Given the description of an element on the screen output the (x, y) to click on. 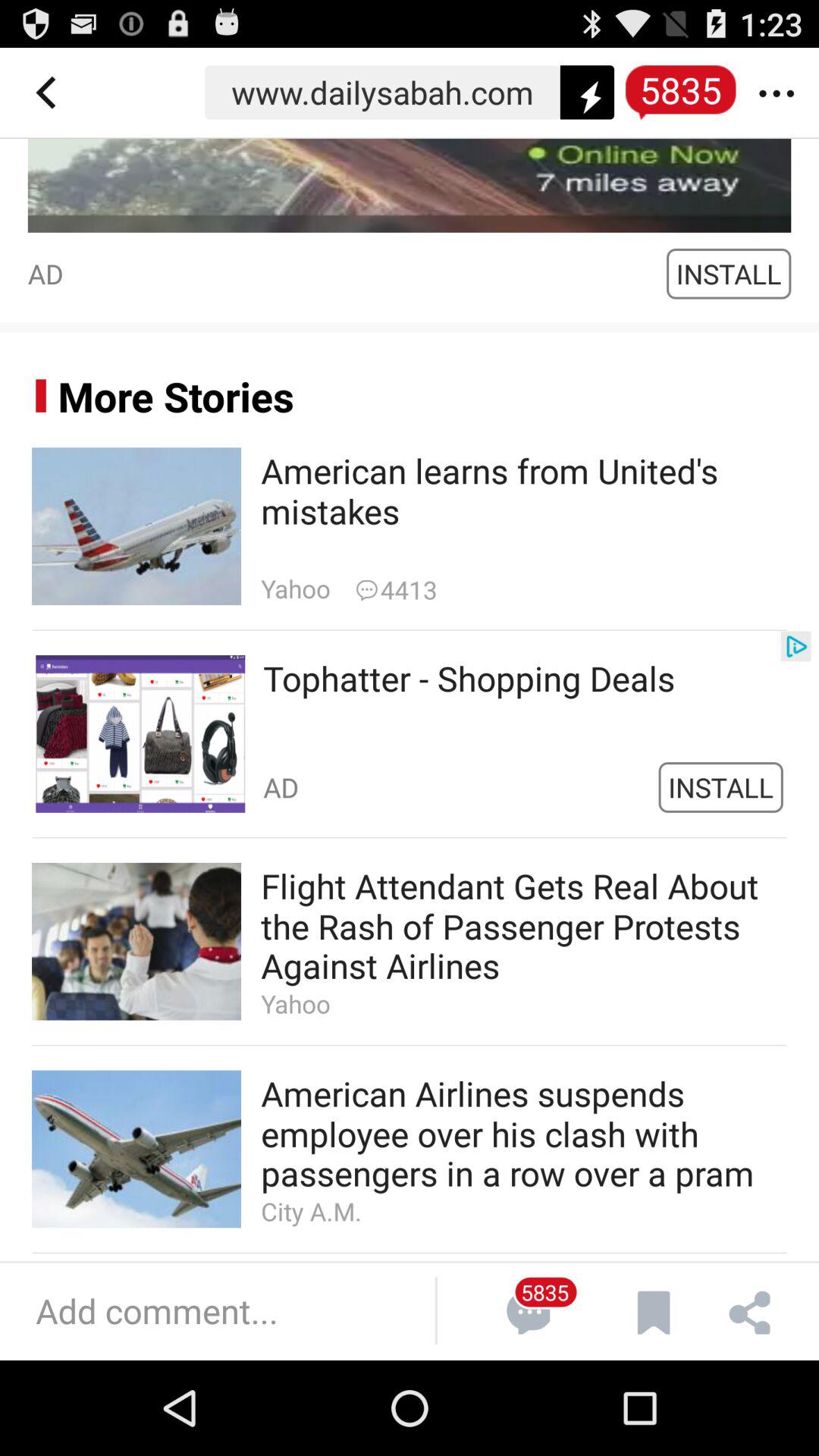
go to second image from bottom (135, 941)
select the option which is below the plane image (409, 733)
fourth image below more stories text (135, 1148)
click on more button at top right (783, 92)
select the icon next to add comments (525, 1309)
choose the image above install button (409, 185)
the black colored icon with flash symbol at top right of the page (587, 92)
